Given the description of an element on the screen output the (x, y) to click on. 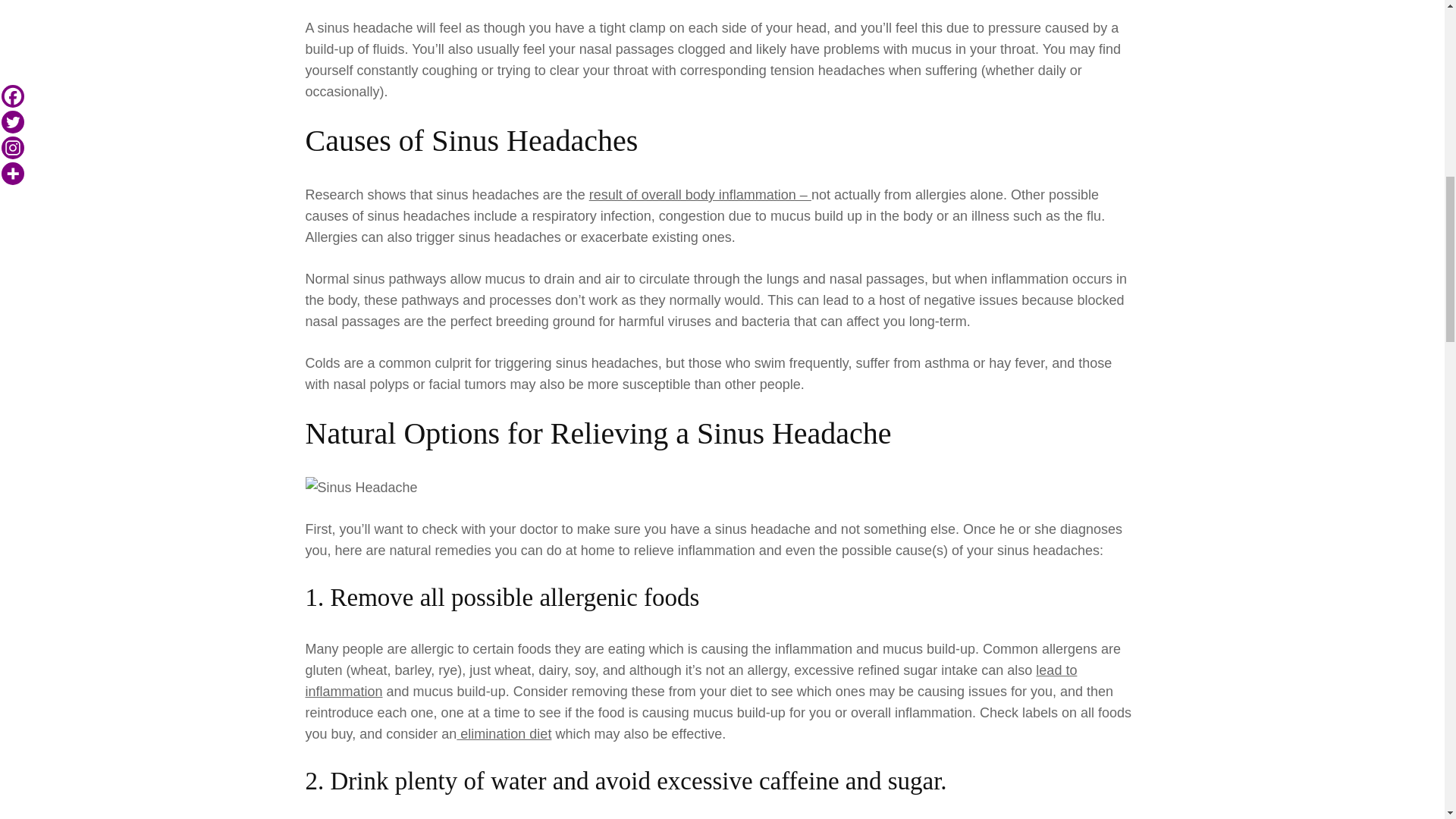
lead to inflammation (690, 780)
